Given the description of an element on the screen output the (x, y) to click on. 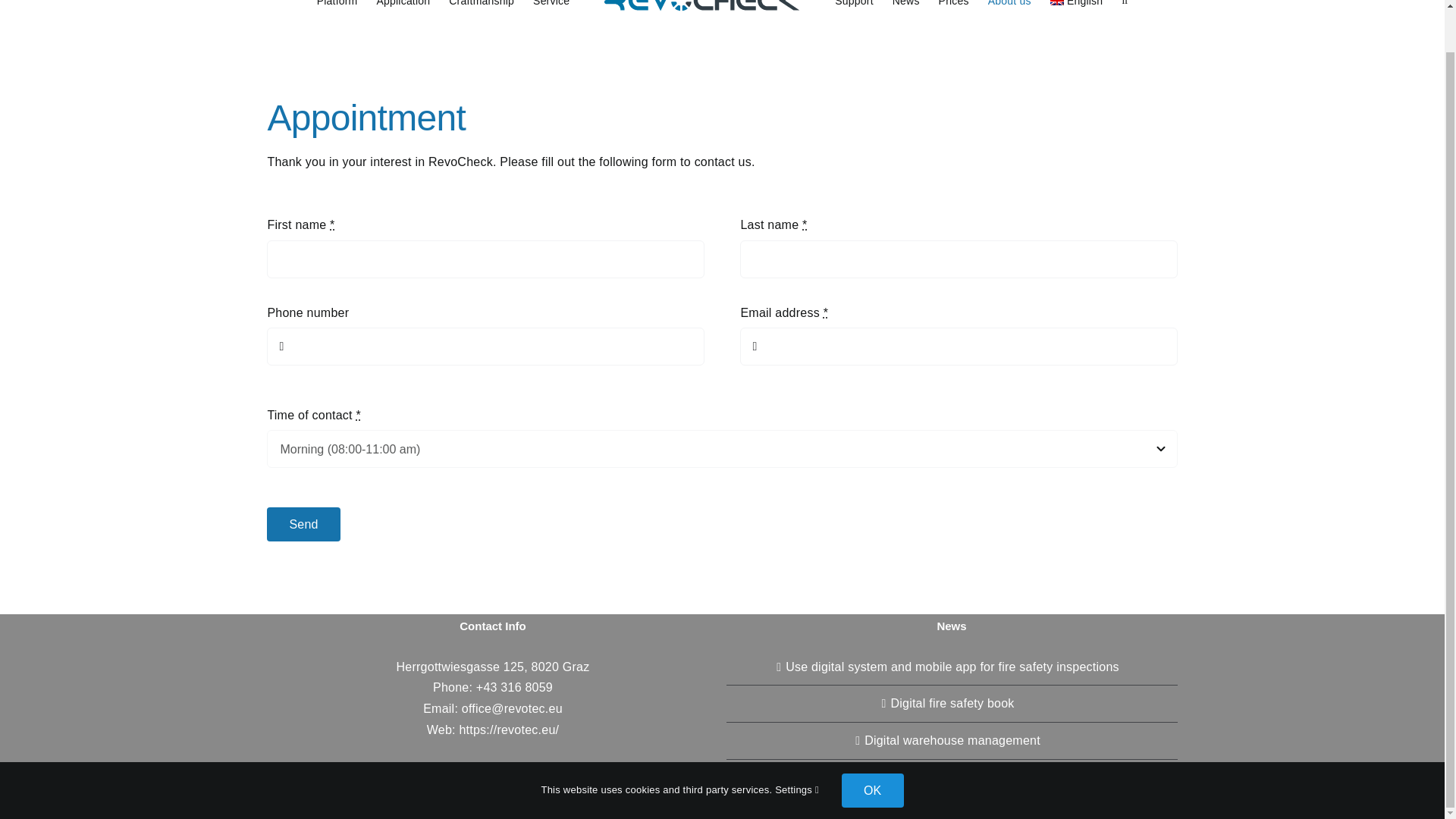
About us (1009, 7)
Service (550, 7)
Support (853, 7)
Send (721, 524)
Platform (337, 7)
Craftmanship (480, 7)
English (1076, 7)
Application (402, 7)
English (1076, 7)
News (906, 7)
Prices (954, 7)
